Given the description of an element on the screen output the (x, y) to click on. 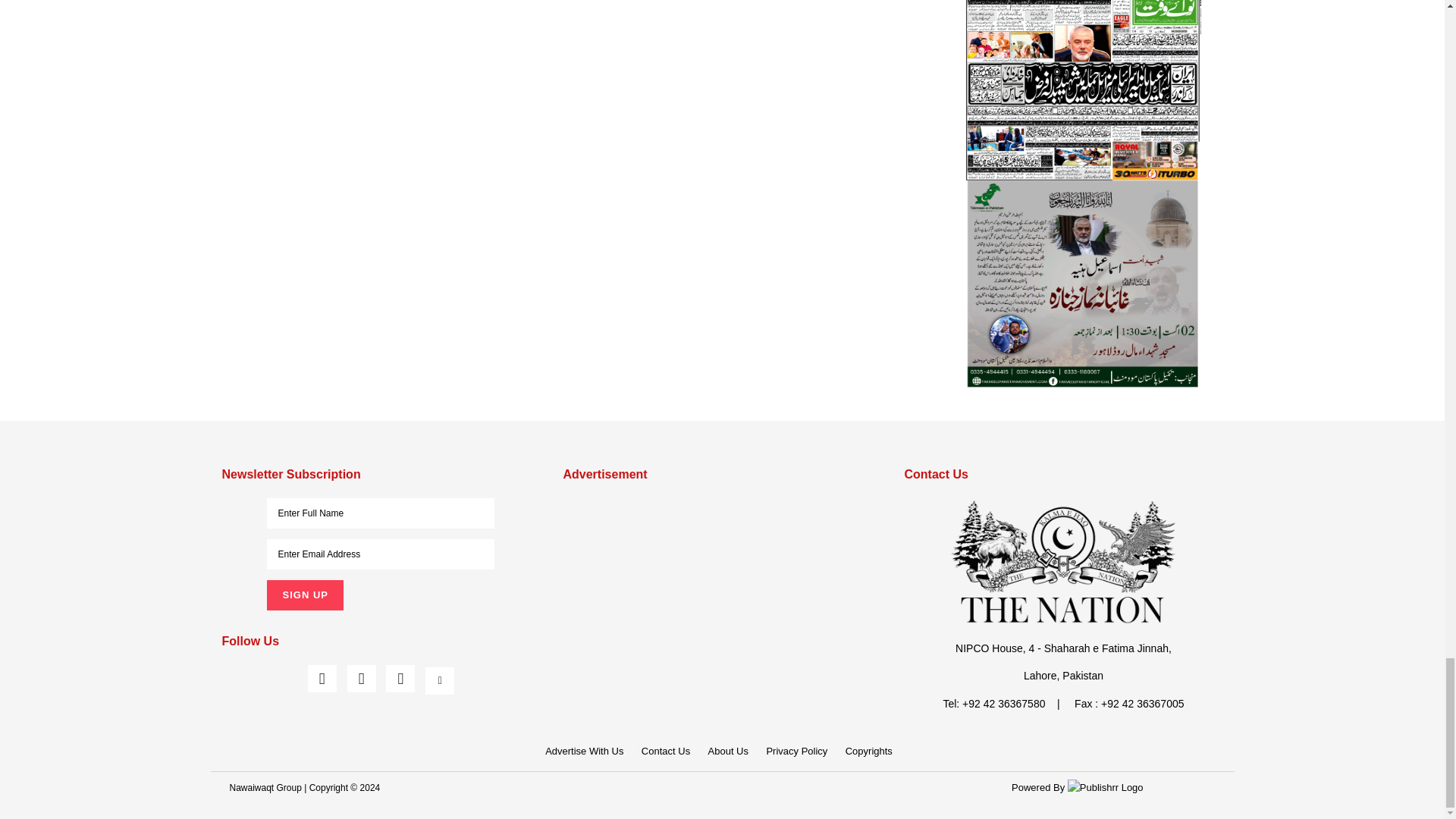
Sign up (304, 594)
